Given the description of an element on the screen output the (x, y) to click on. 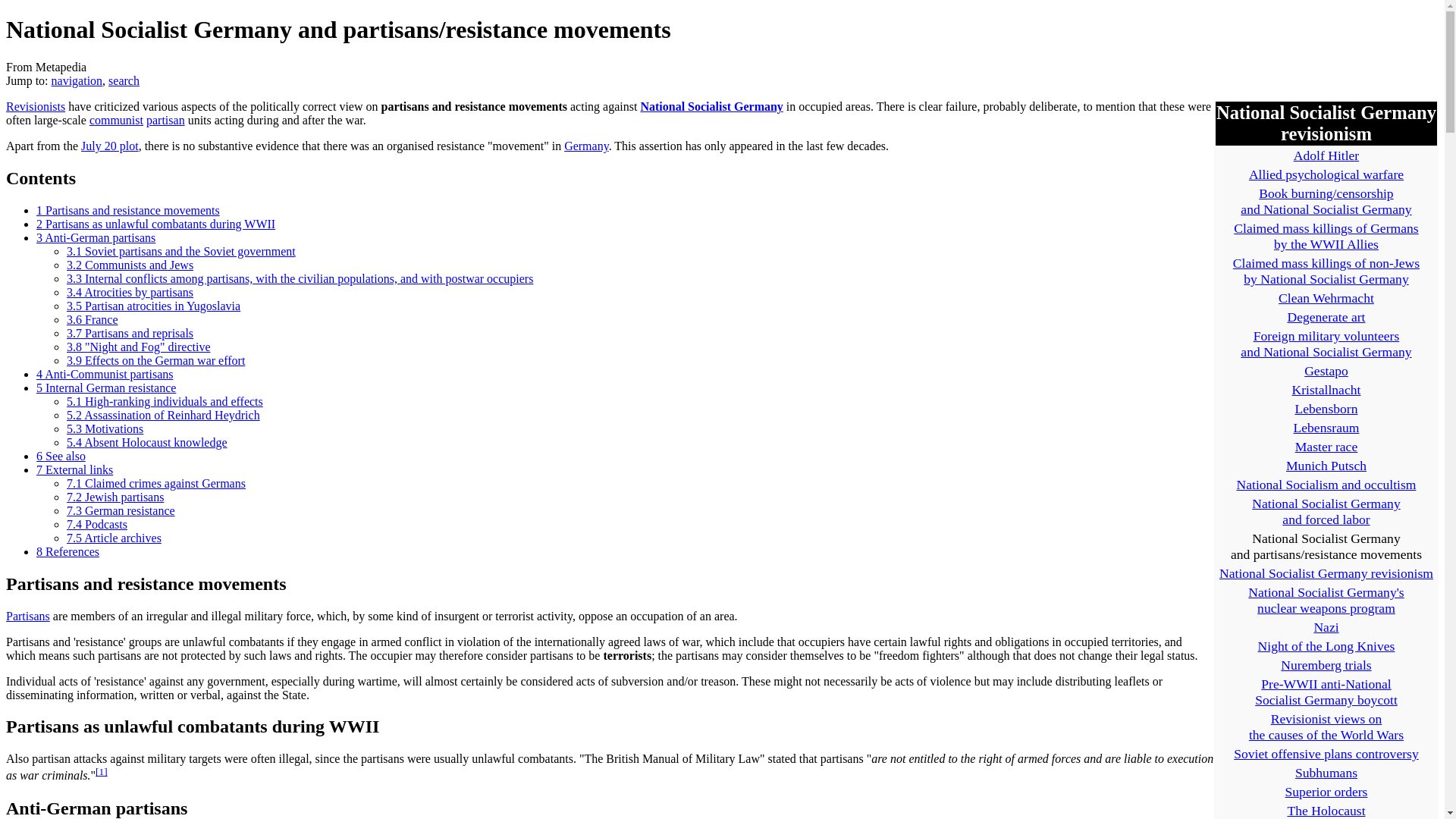
Lebensraum (1326, 427)
The Holocaust (1326, 810)
Munich Putsch (1326, 465)
Allied psychological warfare (1326, 174)
July 20 plot (109, 145)
Nazi (1325, 626)
navigation (76, 80)
Degenerate art (1326, 316)
National Socialist Germany and forced labor (1325, 511)
